Given the description of an element on the screen output the (x, y) to click on. 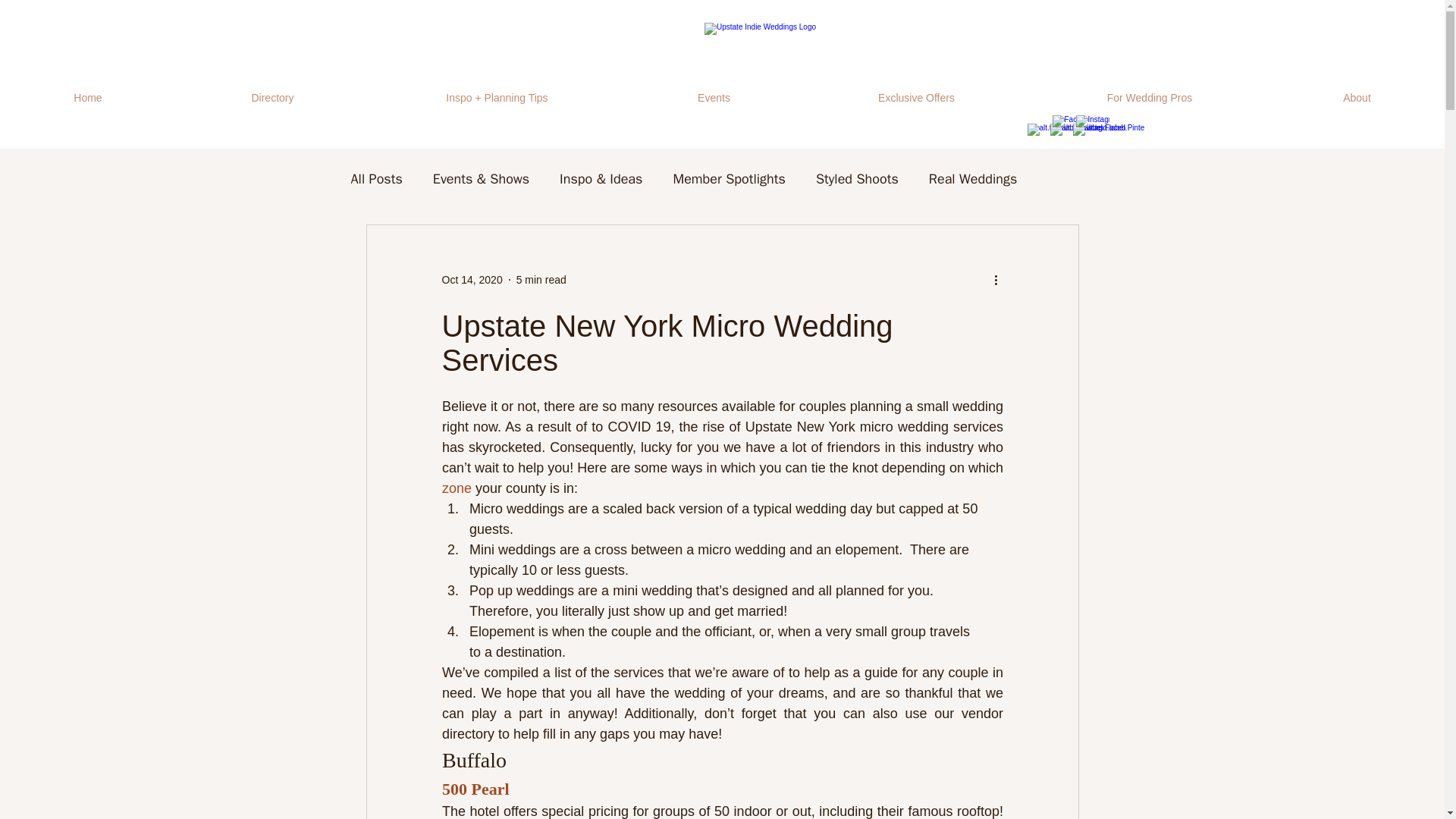
All Posts (375, 178)
Exclusive Offers (916, 97)
Styled Shoots (856, 178)
500 Pearl (474, 788)
For Wedding Pros (1149, 97)
Oct 14, 2020 (471, 278)
5 min read (541, 278)
zone (455, 488)
Real Weddings (972, 178)
Directory (272, 97)
